Given the description of an element on the screen output the (x, y) to click on. 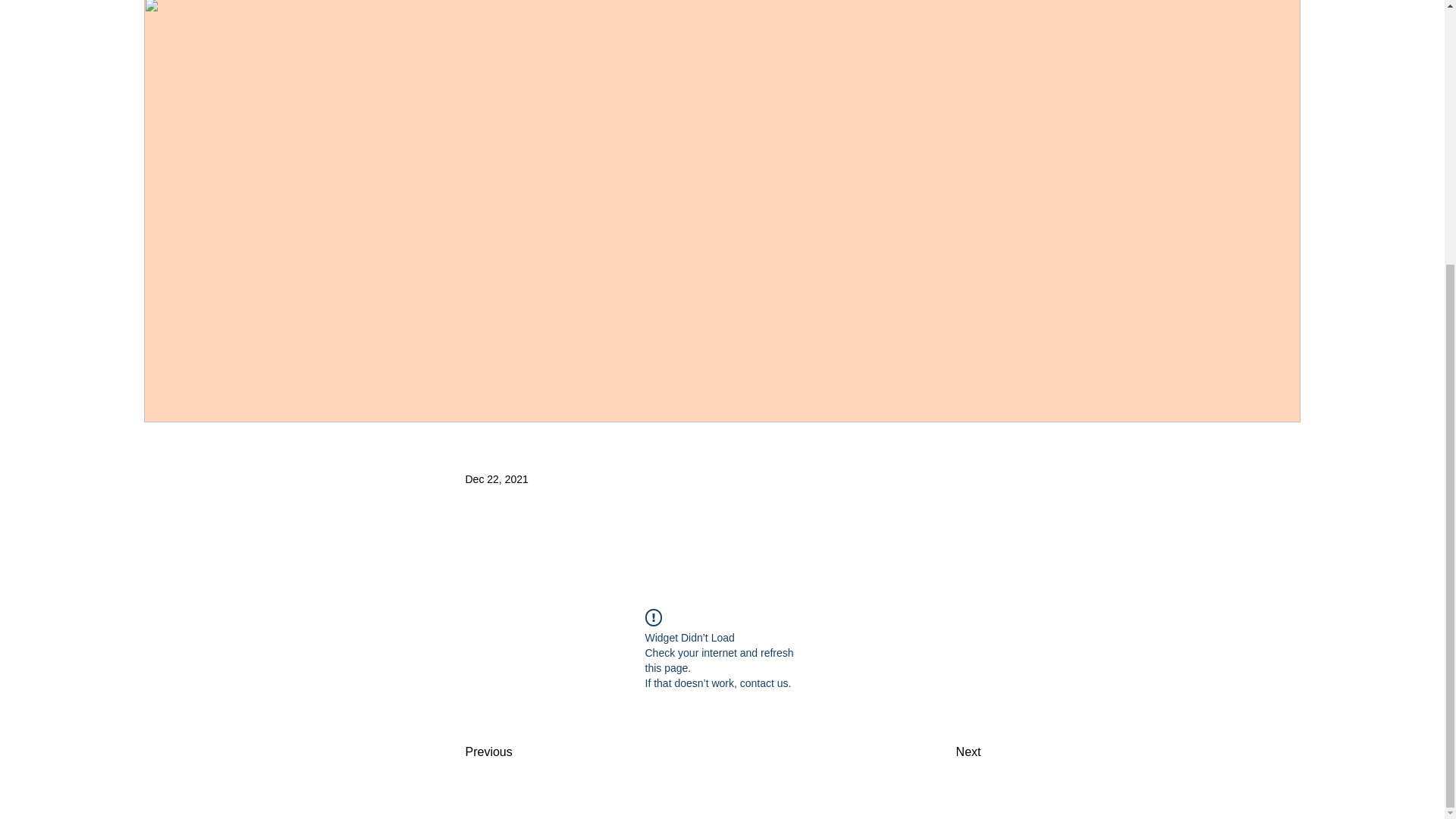
! (653, 617)
Previous (515, 752)
Next (943, 752)
